Given the description of an element on the screen output the (x, y) to click on. 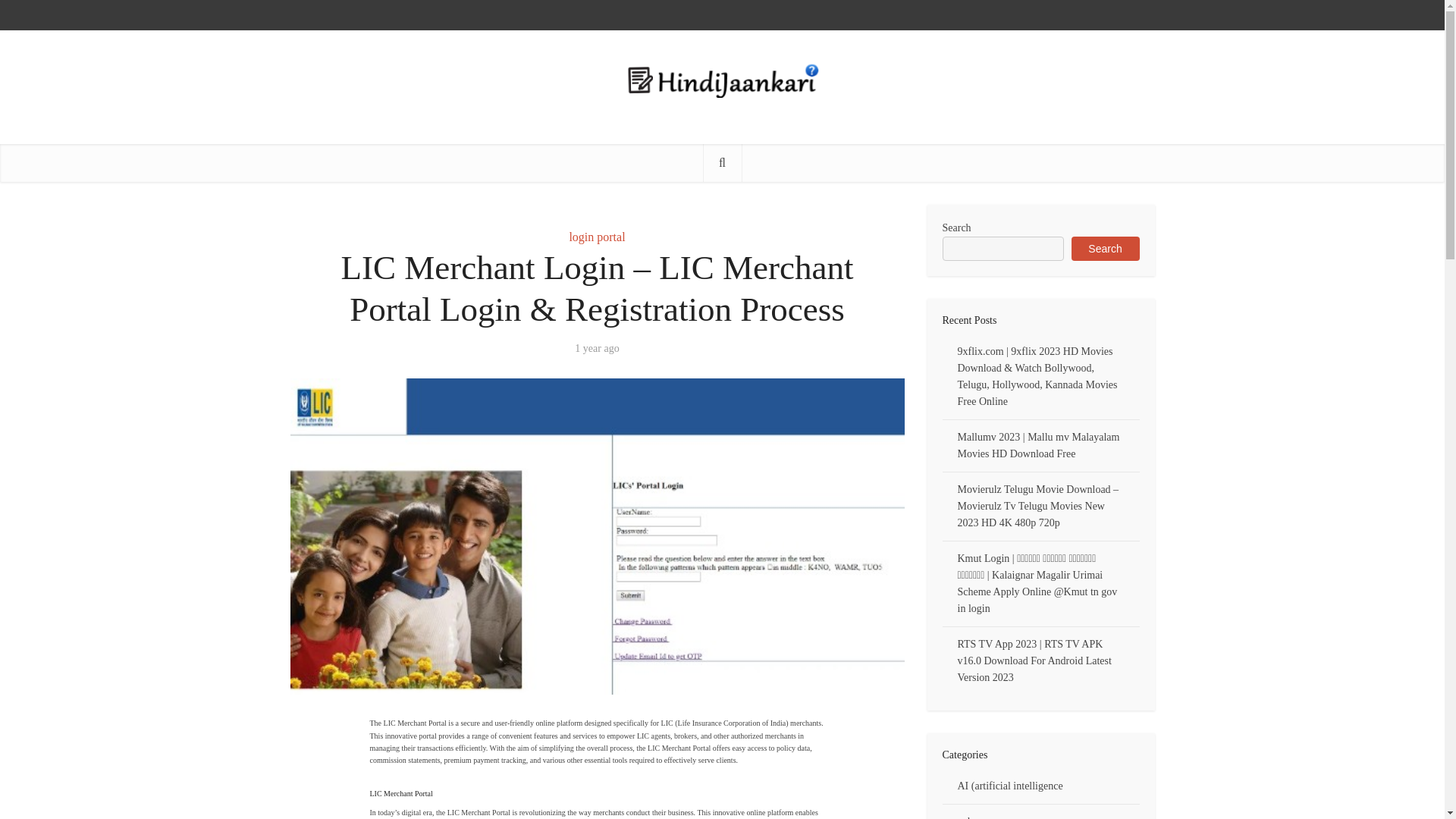
login portal (596, 236)
apk (964, 817)
Search (1104, 248)
